Given the description of an element on the screen output the (x, y) to click on. 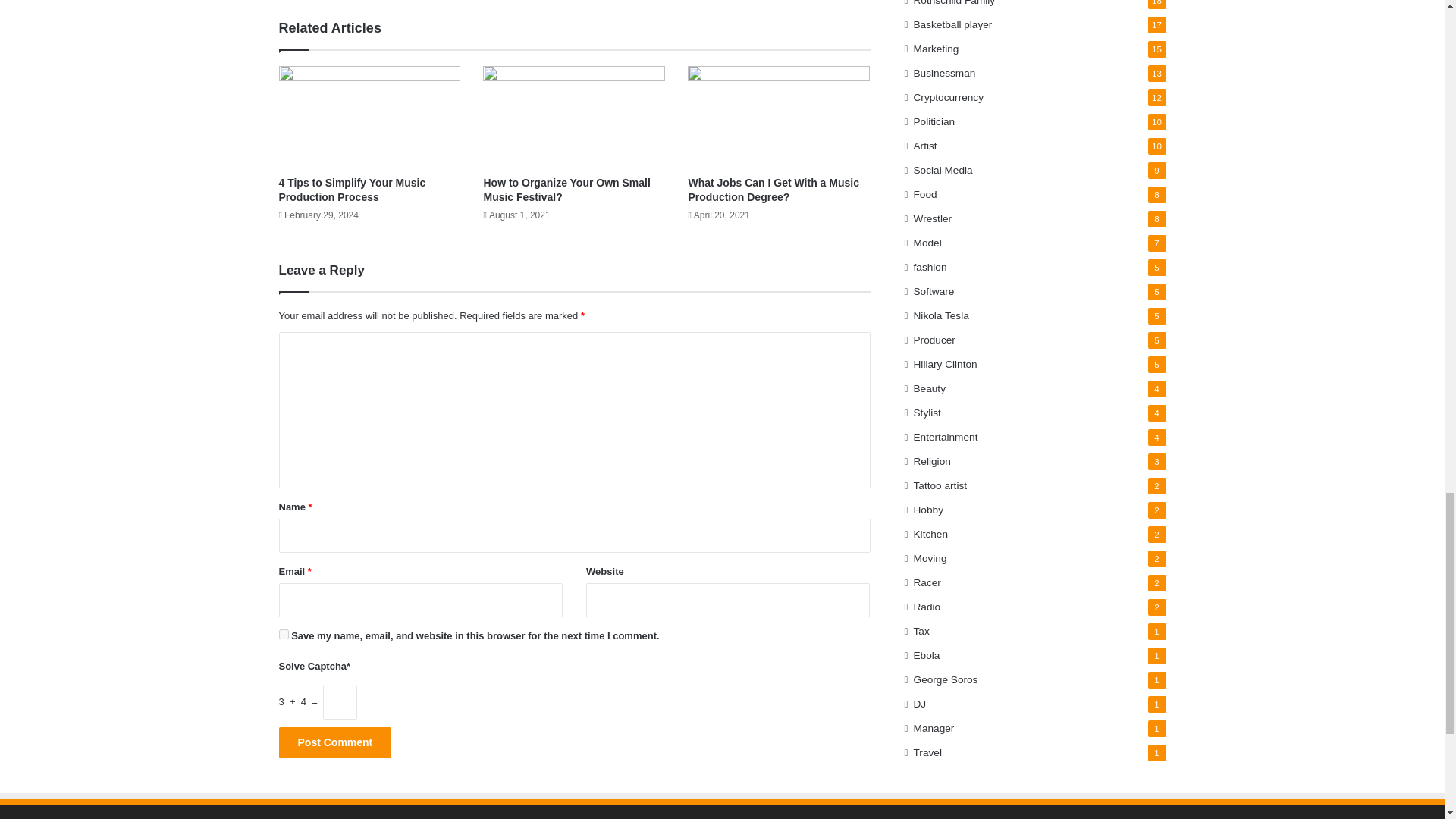
yes (283, 634)
Post Comment (335, 742)
What Jobs Can I Get With a Music Production Degree? (773, 189)
Post Comment (335, 742)
How to Organize Your Own Small Music Festival? (566, 189)
4 Tips to Simplify Your Music Production Process (352, 189)
